Given the description of an element on the screen output the (x, y) to click on. 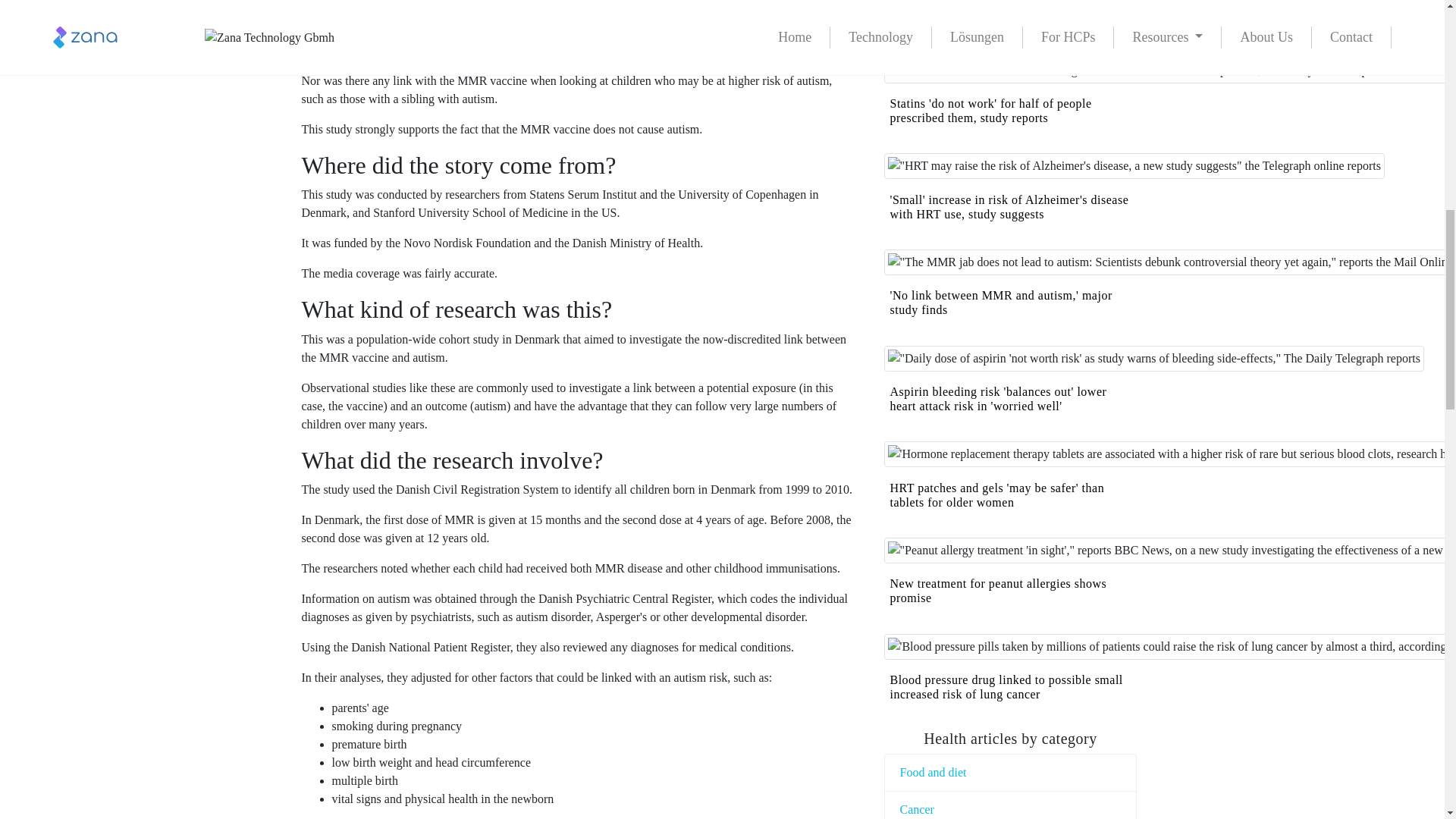
Cancer (916, 809)
New treatment for peanut allergies shows promise (997, 590)
Honey 'as good as antiviral creams' for cold sores (1004, 13)
Food and diet (932, 771)
'No link between MMR and autism,' major study finds (1000, 302)
